Given the description of an element on the screen output the (x, y) to click on. 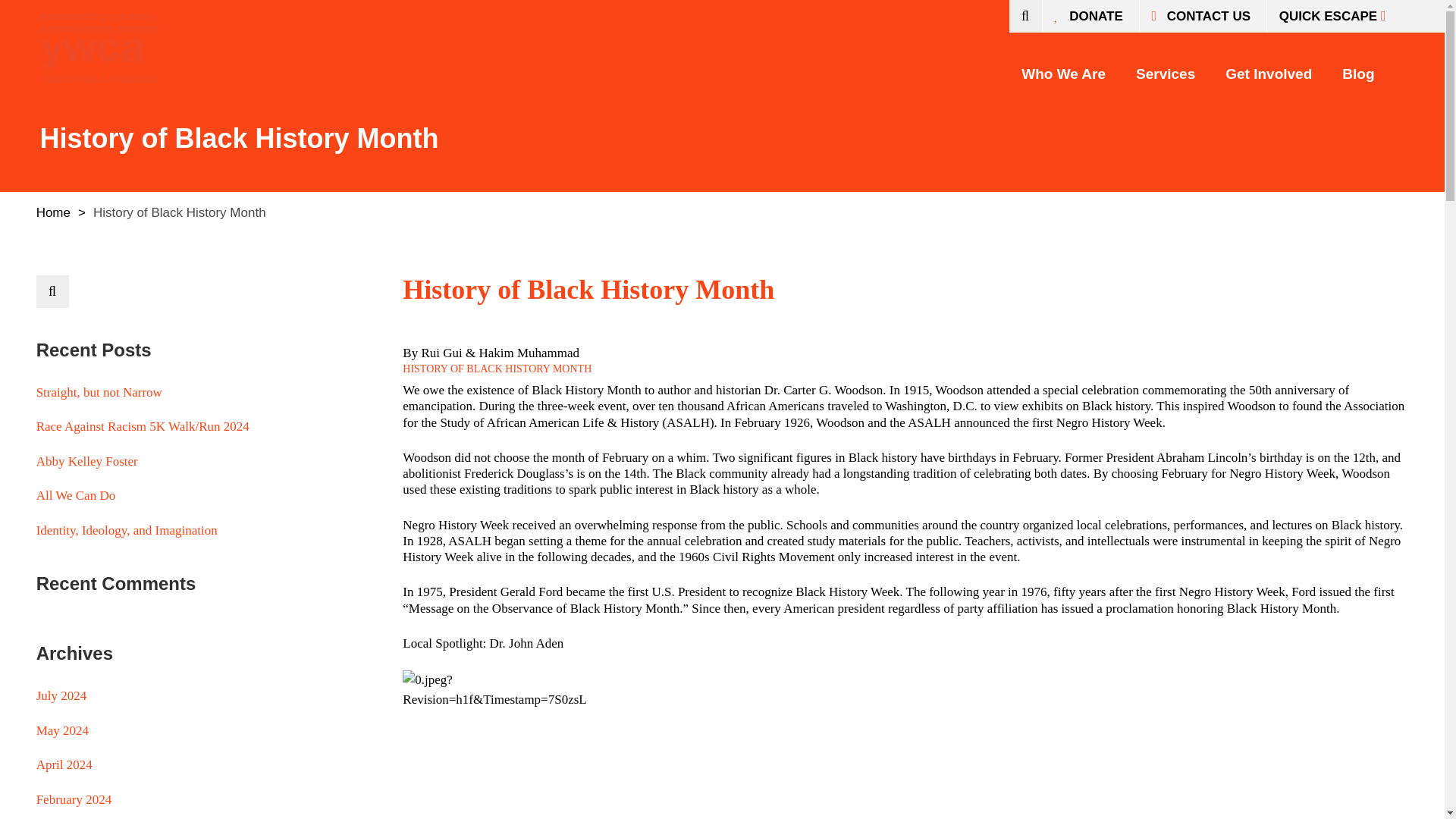
Home (52, 212)
DONATE (1088, 16)
Get Involved (1268, 67)
QUICK ESCAPE (1335, 16)
Services (1165, 67)
CONTACT US (1201, 16)
Who We Are (1063, 67)
Blog (1358, 67)
